Given the description of an element on the screen output the (x, y) to click on. 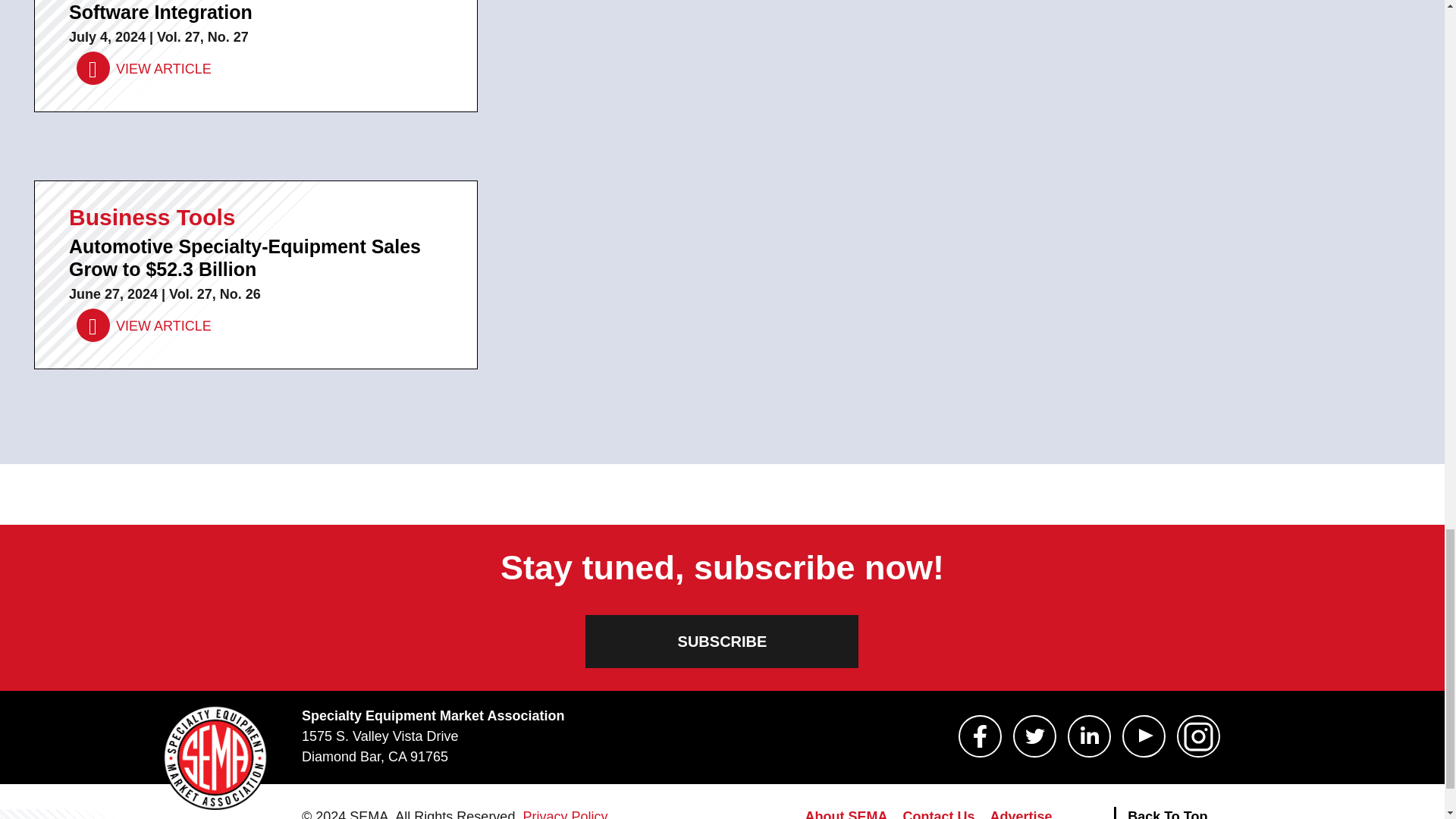
SEMA YouTube Link (1144, 735)
SEMA Facebook Link (979, 735)
SUBSCRIBE (722, 641)
VIEW ARTICLE (143, 326)
SEMA Instagram Link (1198, 735)
VIEW ARTICLE (143, 69)
SEMA Twitter Link (1035, 735)
SEMA LinkedIn Link (1088, 735)
Privacy Policy (564, 814)
